Given the description of an element on the screen output the (x, y) to click on. 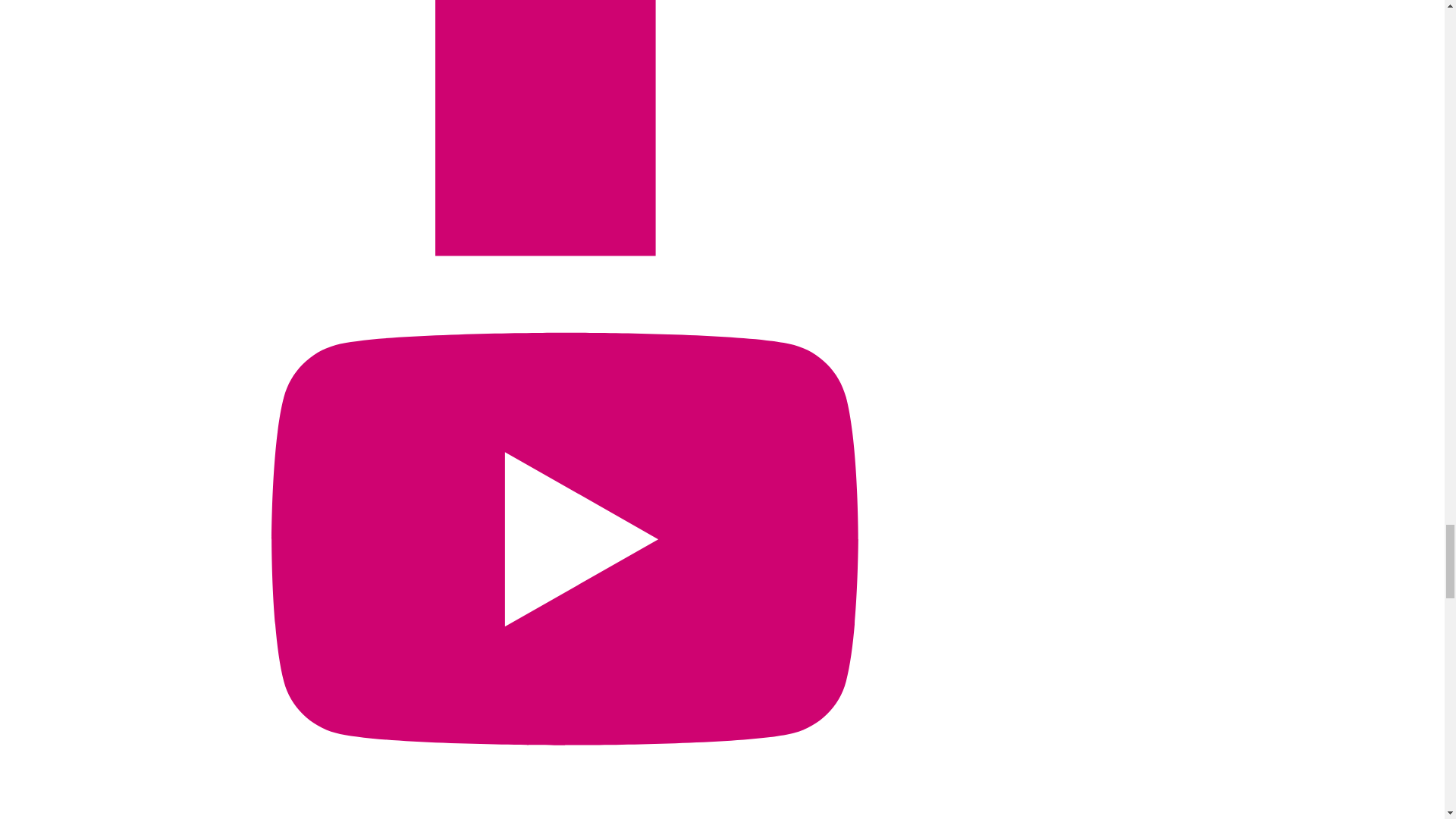
Facebook (563, 251)
Youtube (563, 809)
